Given the description of an element on the screen output the (x, y) to click on. 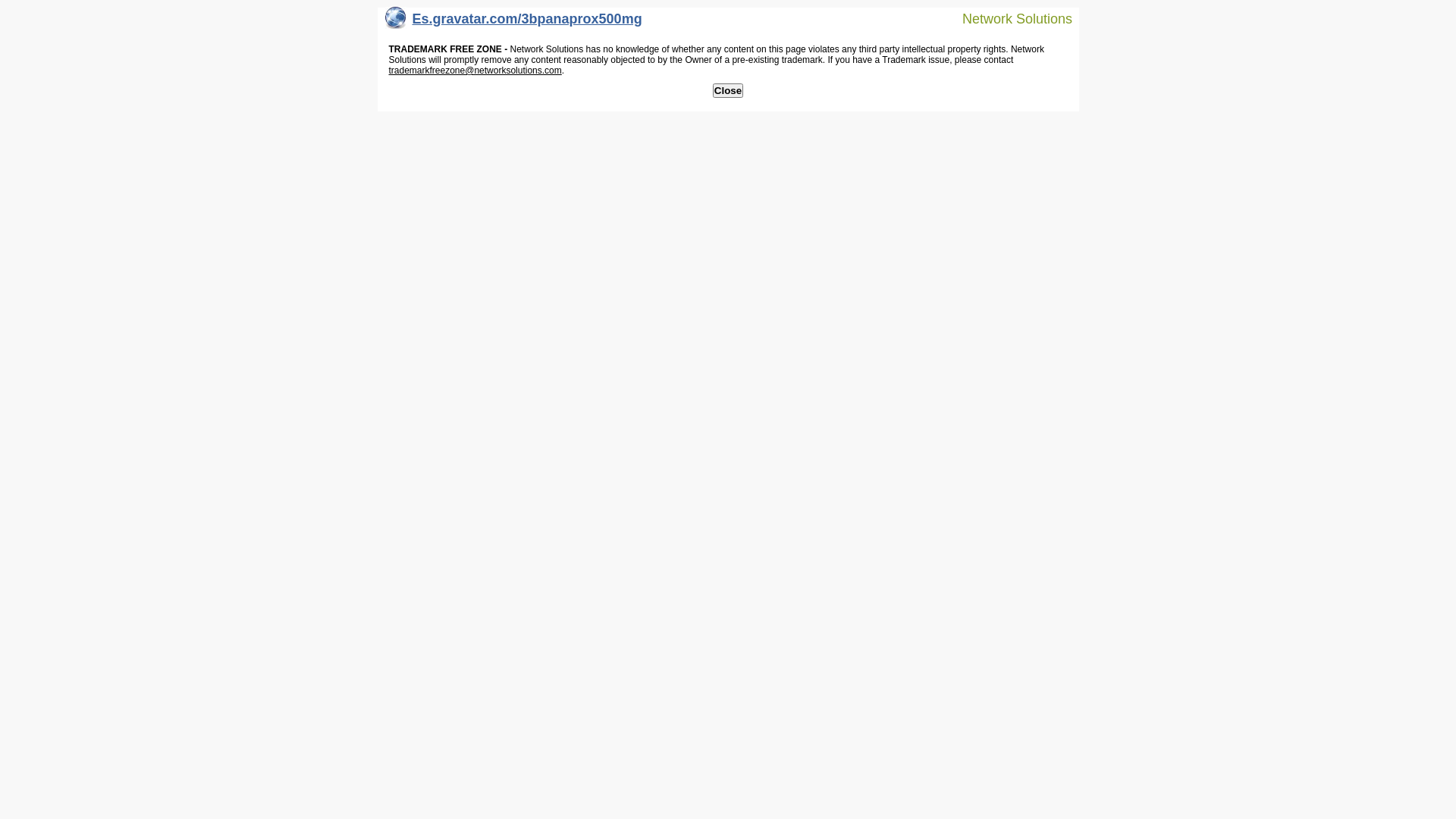
Network Solutions Element type: text (1007, 17)
trademarkfreezone@networksolutions.com Element type: text (474, 70)
Es.gravatar.com/3bpanaprox500mg Element type: text (513, 21)
Close Element type: text (727, 90)
